Given the description of an element on the screen output the (x, y) to click on. 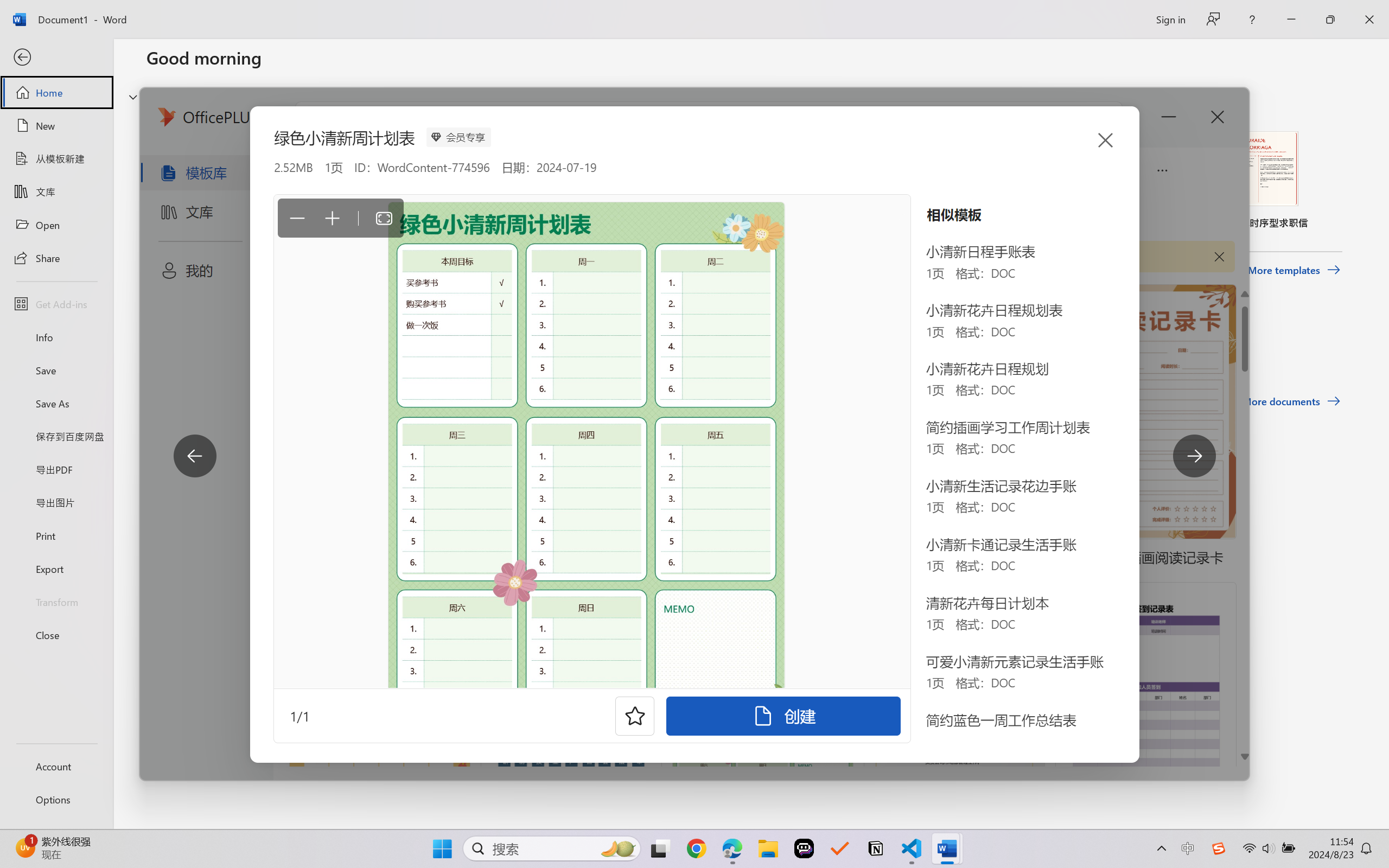
More templates (1293, 270)
Options (56, 798)
New (56, 125)
Recent (171, 345)
Pinned (226, 345)
